Given the description of an element on the screen output the (x, y) to click on. 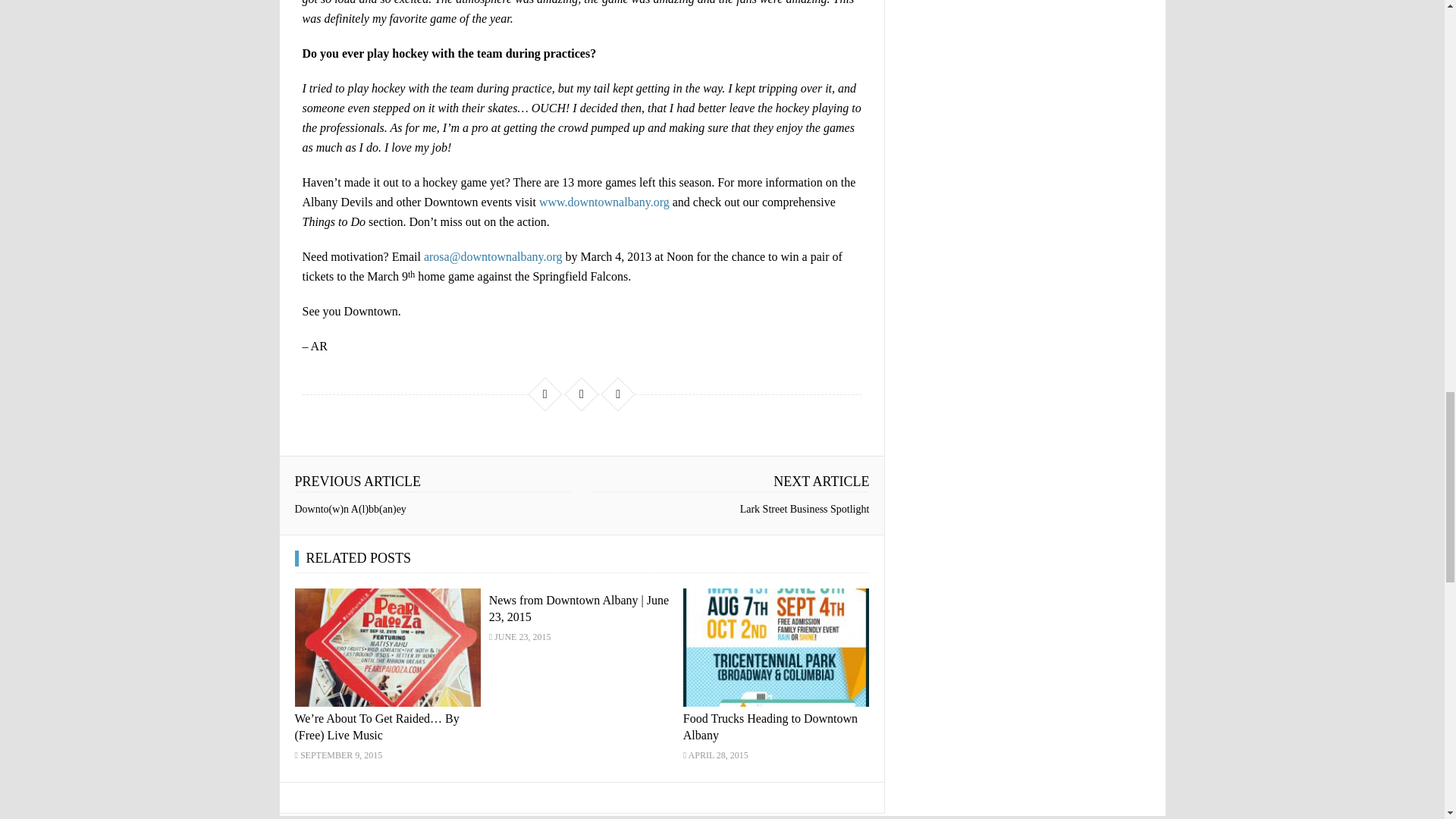
Food Trucks Heading to Downtown Albany (769, 726)
Food Trucks Heading to Downtown Albany (775, 646)
